Given the description of an element on the screen output the (x, y) to click on. 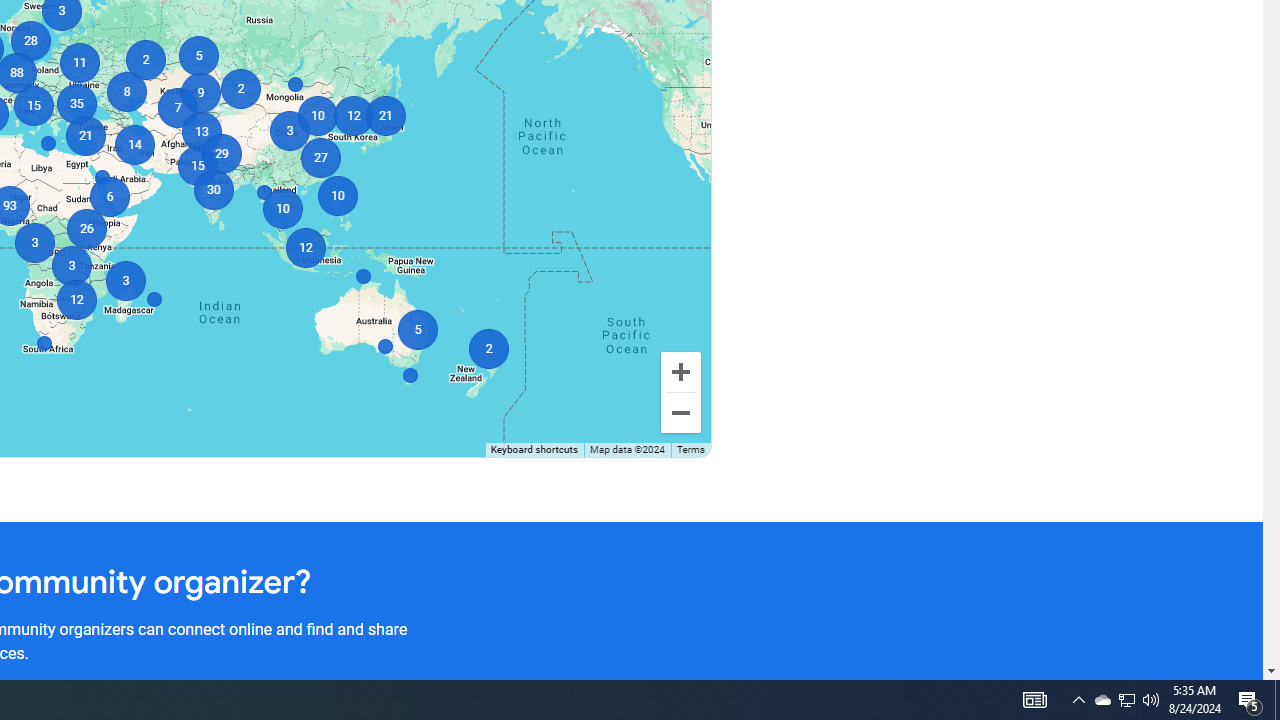
Terms (690, 449)
3 (34, 242)
7 (177, 107)
21 (384, 115)
35 (76, 103)
8 (126, 92)
28 (30, 40)
29 (220, 153)
9 (200, 92)
11 (78, 62)
